Given the description of an element on the screen output the (x, y) to click on. 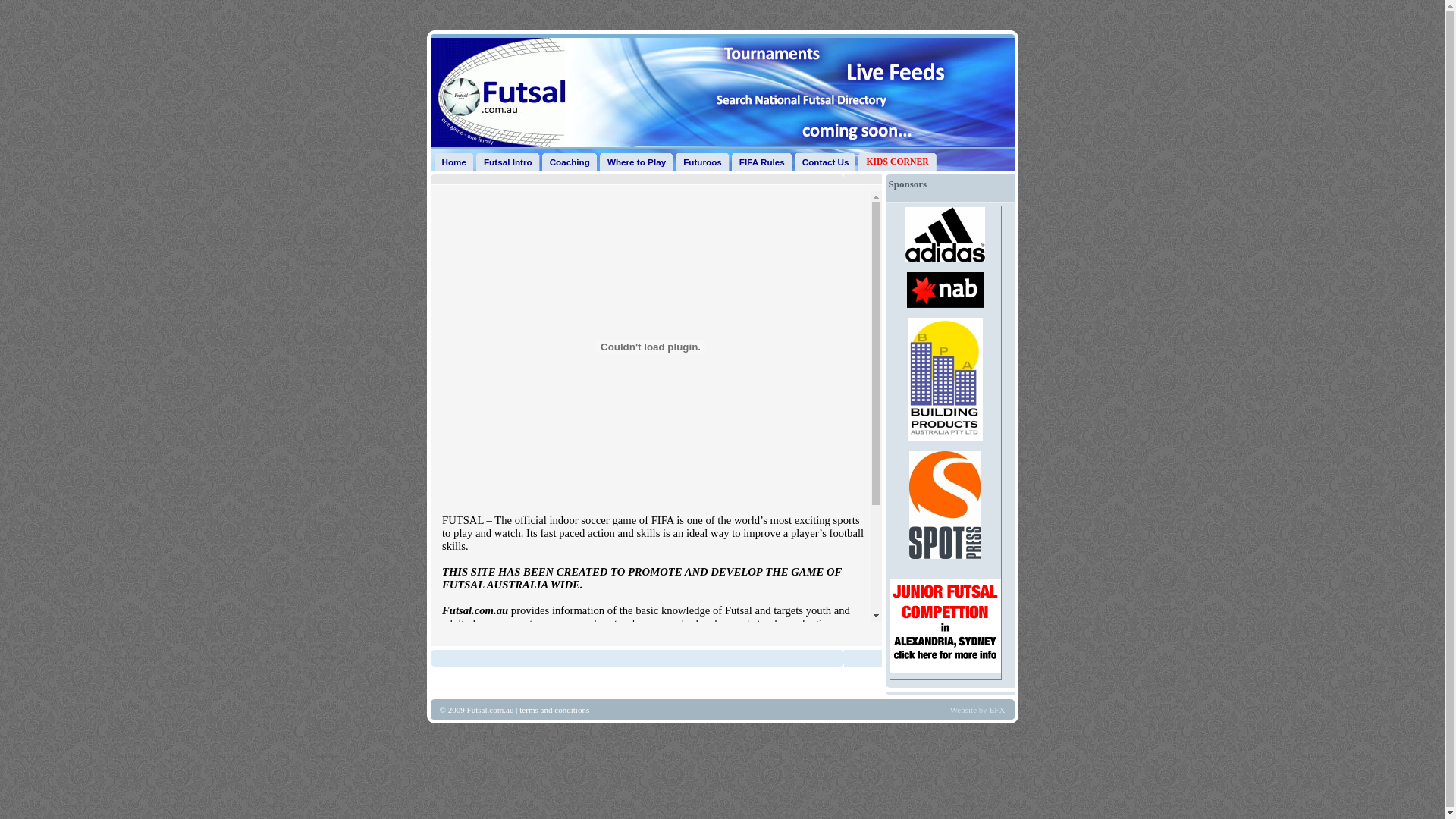
Where to Play Element type: text (636, 161)
EFX Element type: text (997, 709)
Contact Us Element type: text (825, 161)
FIFA Rules Element type: text (761, 161)
KIDS CORNER Element type: text (896, 161)
Futuroos Element type: text (702, 161)
Coaching Element type: text (569, 161)
terms and conditions Element type: text (554, 709)
Futsal Intro Element type: text (507, 161)
Website Element type: text (964, 709)
Home Element type: text (453, 161)
